Given the description of an element on the screen output the (x, y) to click on. 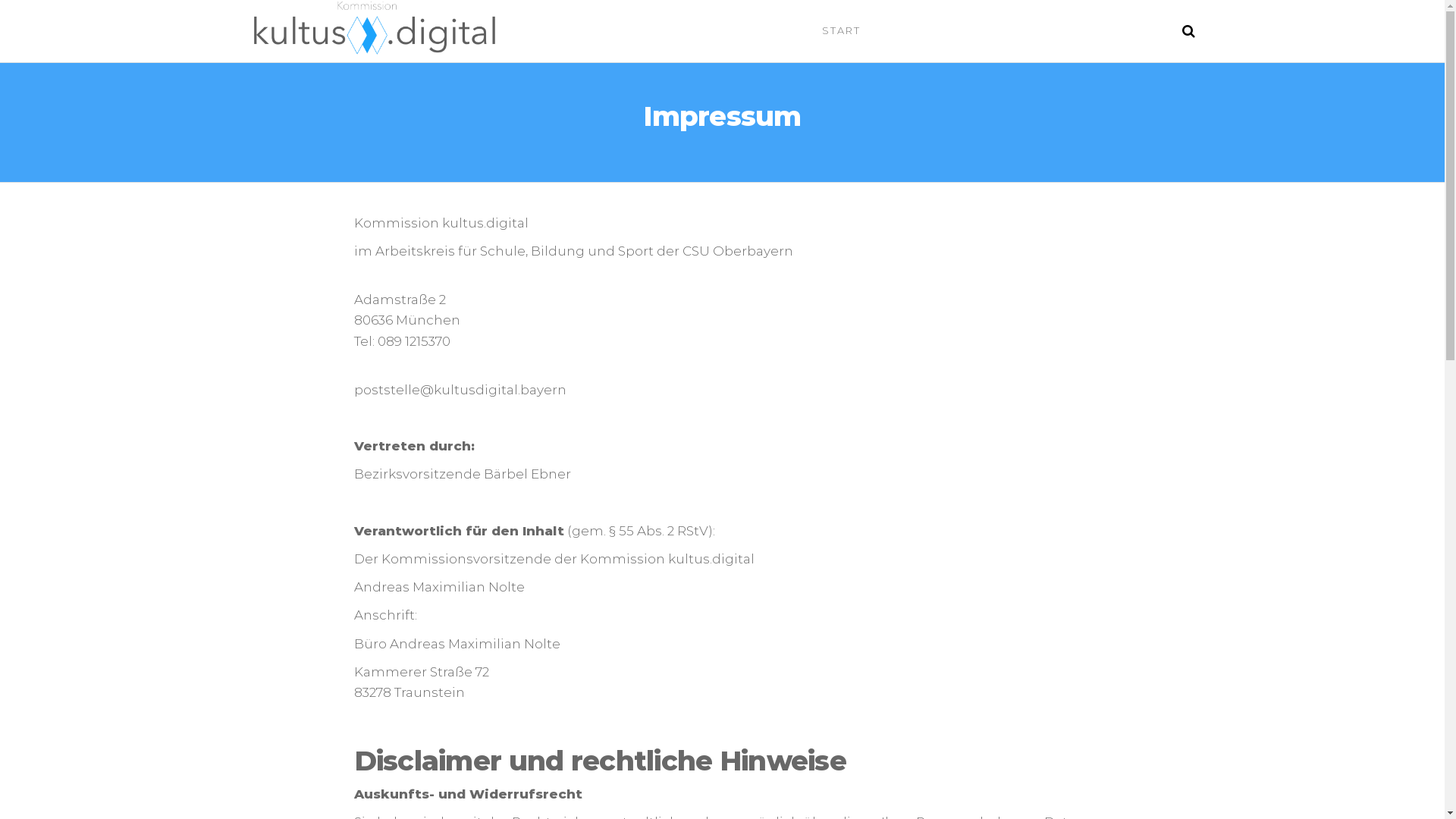
START Element type: text (841, 30)
